Given the description of an element on the screen output the (x, y) to click on. 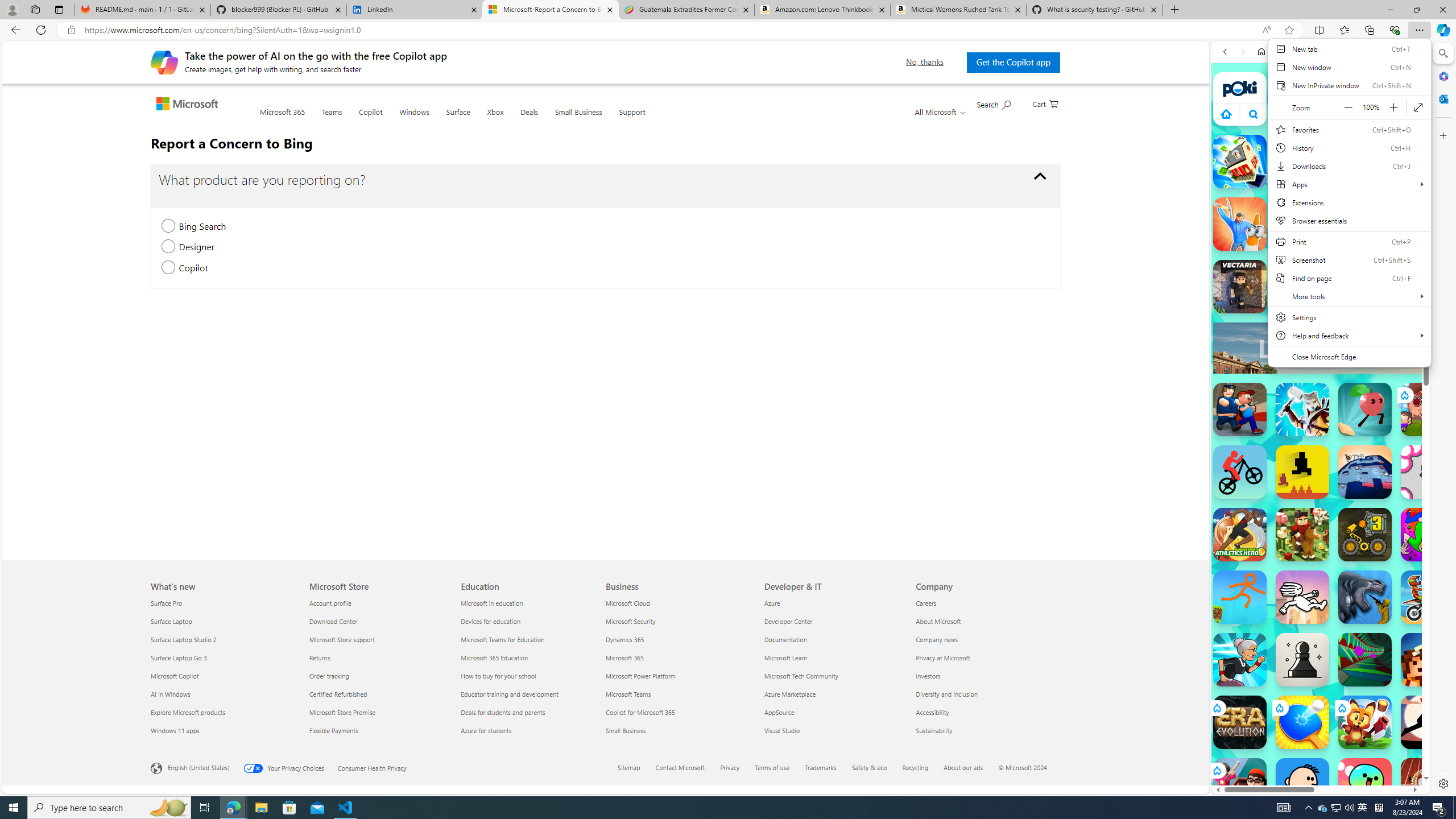
Certified Refurbished Microsoft Store (337, 693)
About our ads (970, 768)
Blumgi Slime (1364, 784)
Narrow.One Narrow.One (1302, 409)
Microsoft Store Promise (377, 711)
Dreadhead Parkour Dreadhead Parkour (1302, 597)
Microsoft Teams for Education (529, 638)
Explore Microsoft products (223, 711)
Surface Laptop What's new (171, 620)
What product are you reporting on? no option selected (1039, 175)
AppSource (833, 711)
